Given the description of an element on the screen output the (x, y) to click on. 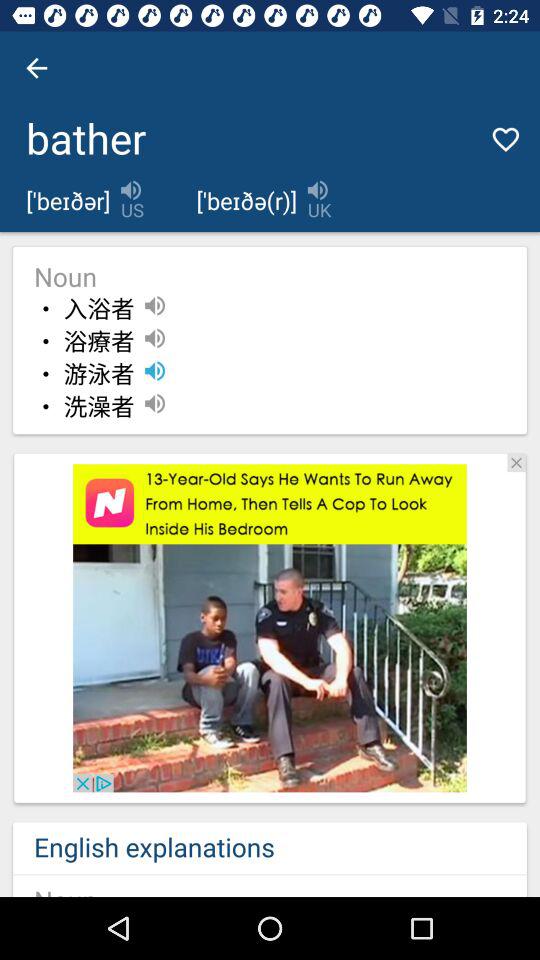
close advertisement (516, 462)
